Given the description of an element on the screen output the (x, y) to click on. 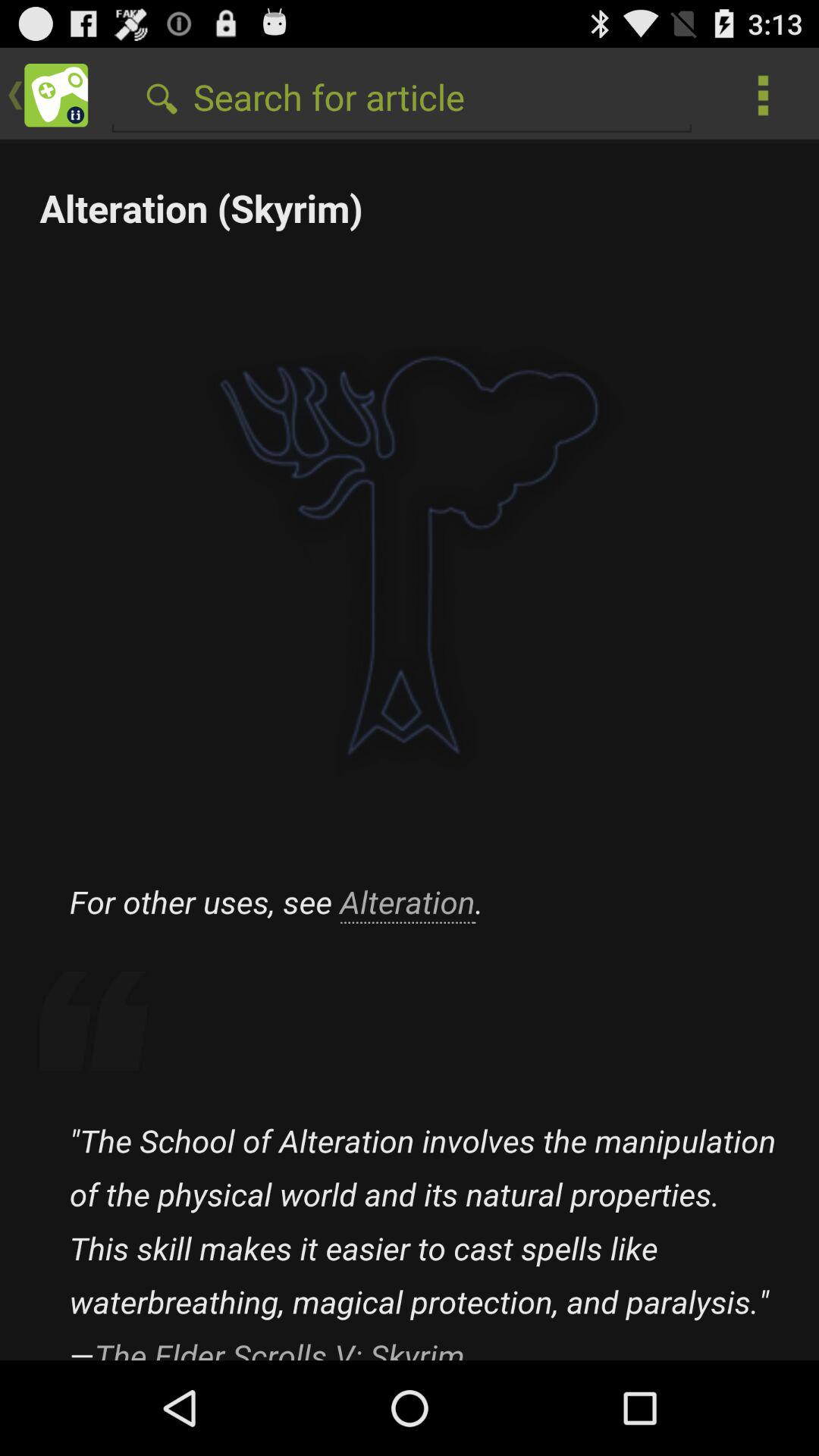
description (409, 751)
